Given the description of an element on the screen output the (x, y) to click on. 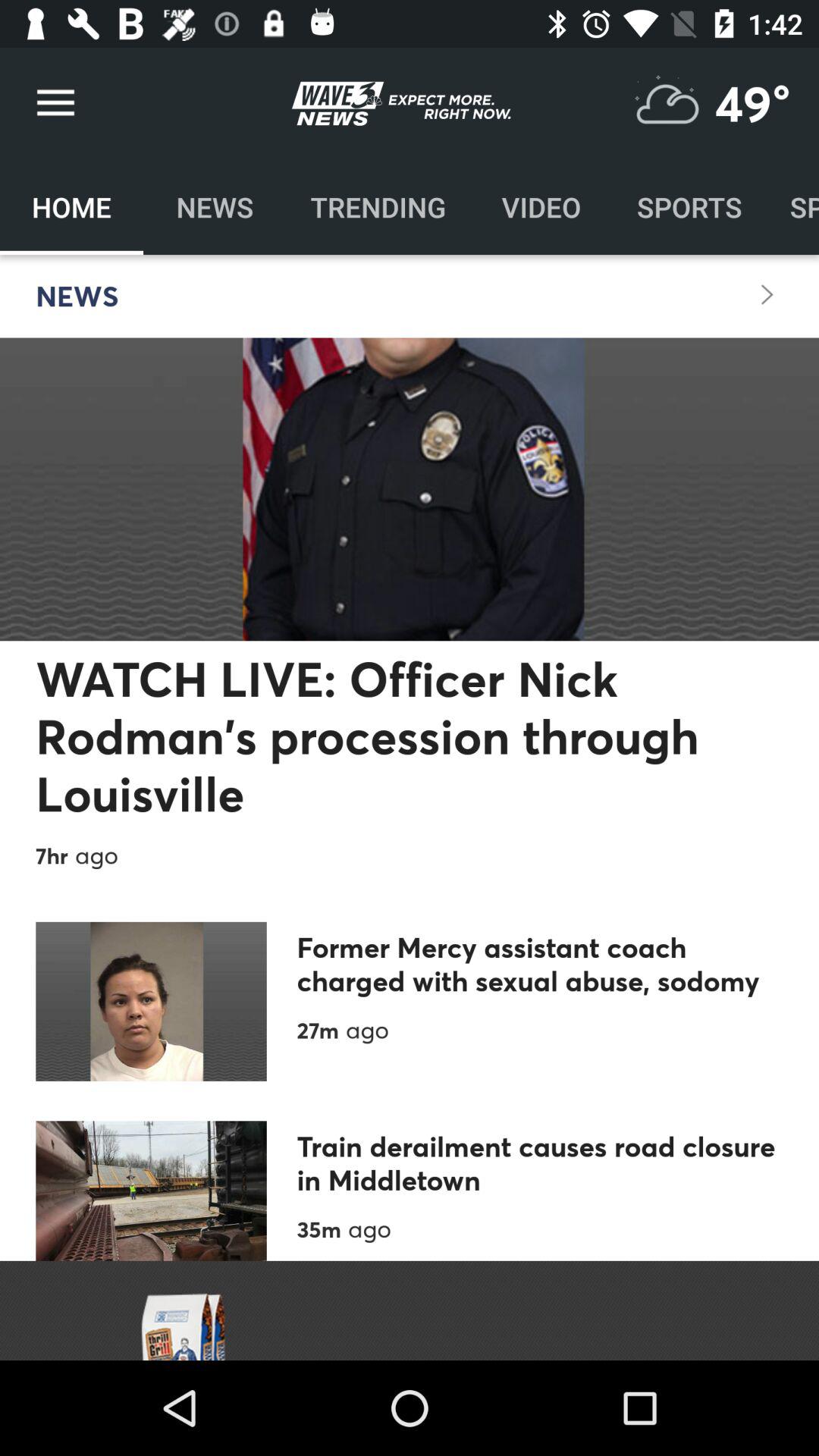
go to in depth weather conditions (666, 103)
